Given the description of an element on the screen output the (x, y) to click on. 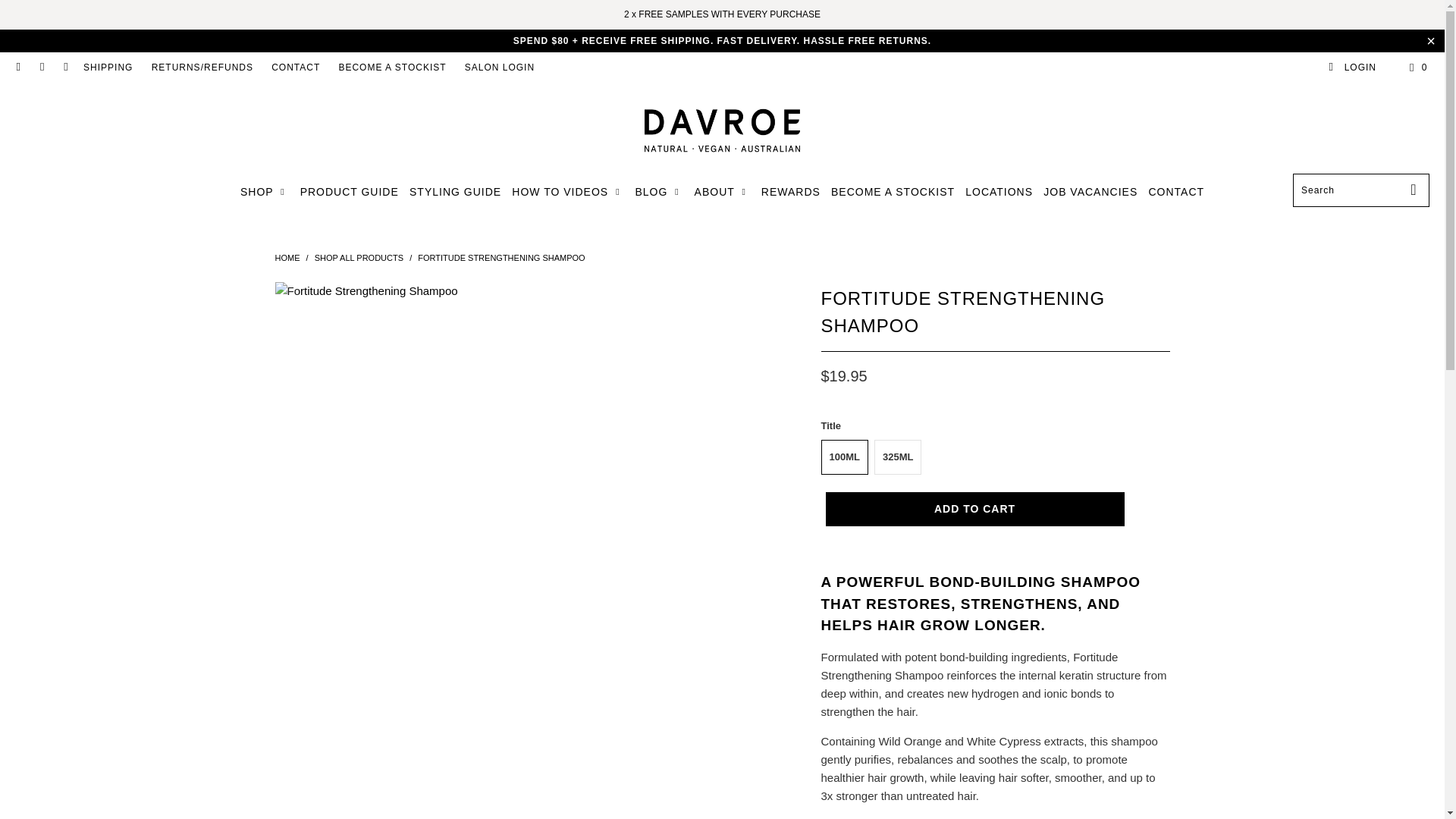
Shop All Products (358, 257)
My Account  (1351, 67)
Davroe NZ on Facebook (17, 67)
Email Davroe NZ (65, 67)
Davroe NZ (287, 257)
Davroe NZ on Instagram (41, 67)
Davroe NZ (722, 131)
